Given the description of an element on the screen output the (x, y) to click on. 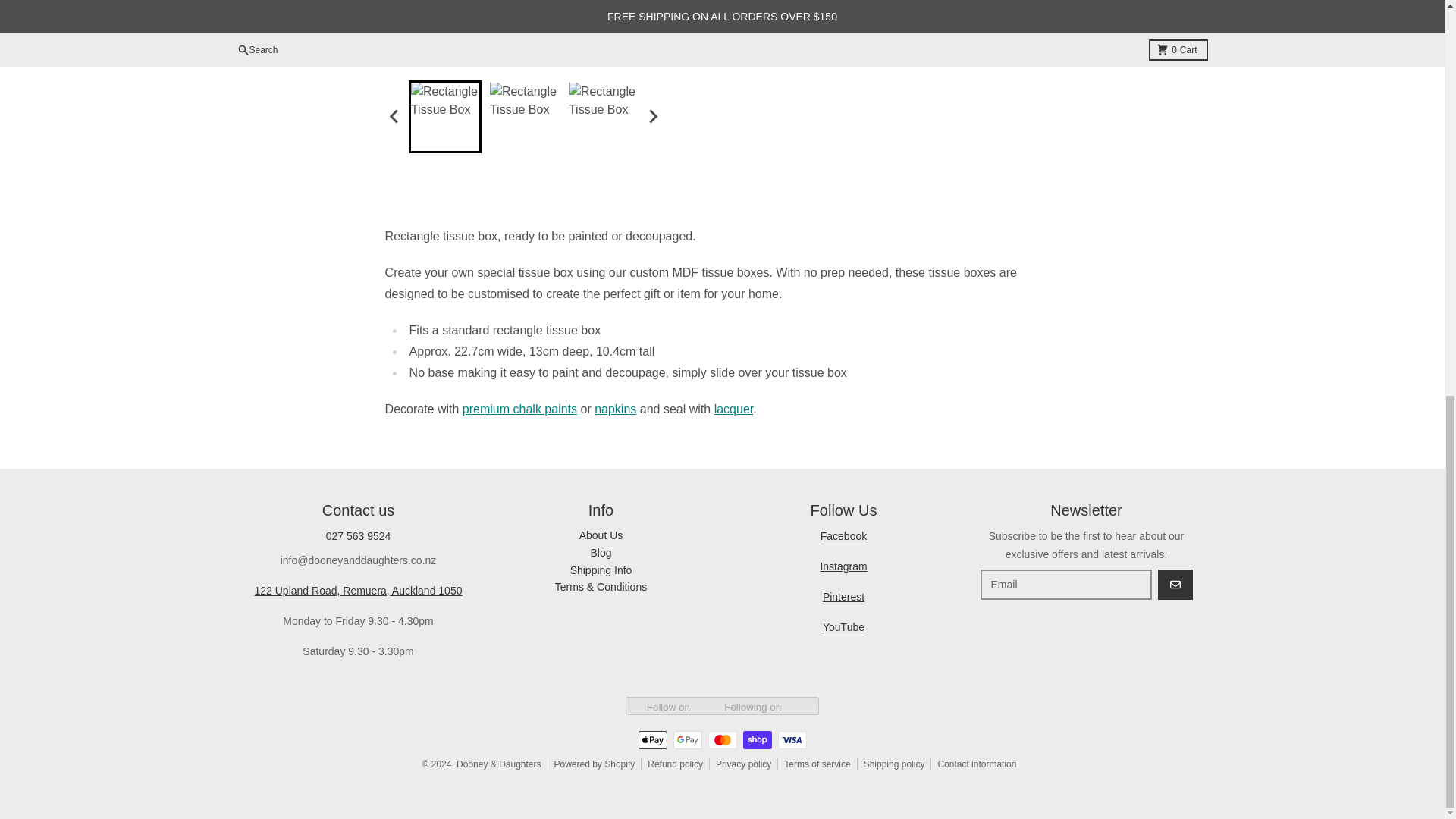
Decoupage Napkins (615, 408)
The Artisan Company Premium Chalk Paints (519, 408)
The Artisan Company Premium Lacquer (734, 408)
